Given the description of an element on the screen output the (x, y) to click on. 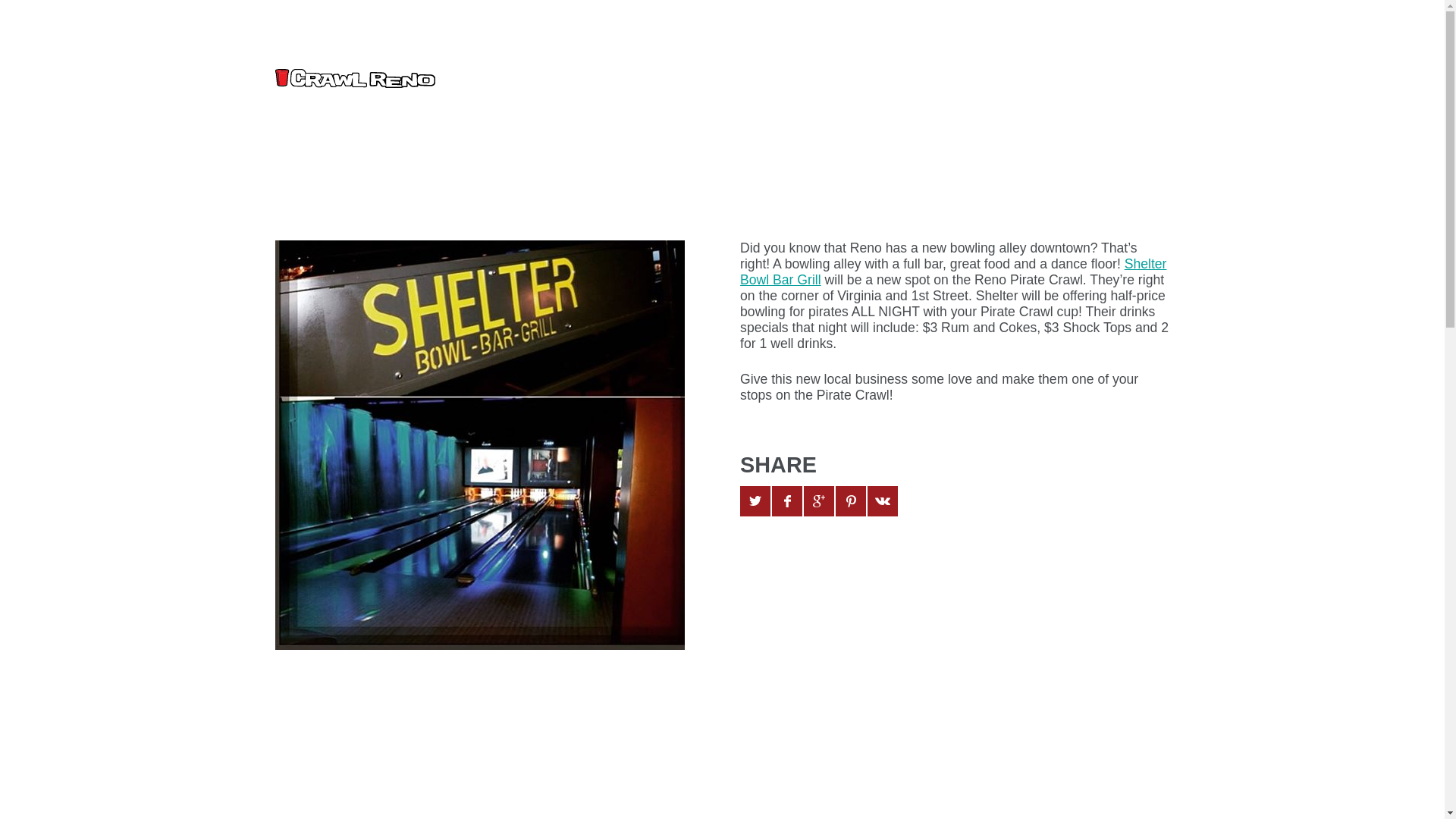
Twitter (1002, 28)
HOME (905, 78)
Facebook (1032, 28)
Share on Facebook (786, 501)
Tweet This (754, 501)
Twitter (1002, 28)
YouTube (1063, 28)
Pinterest (1093, 28)
Instagram (1123, 28)
